Given the description of an element on the screen output the (x, y) to click on. 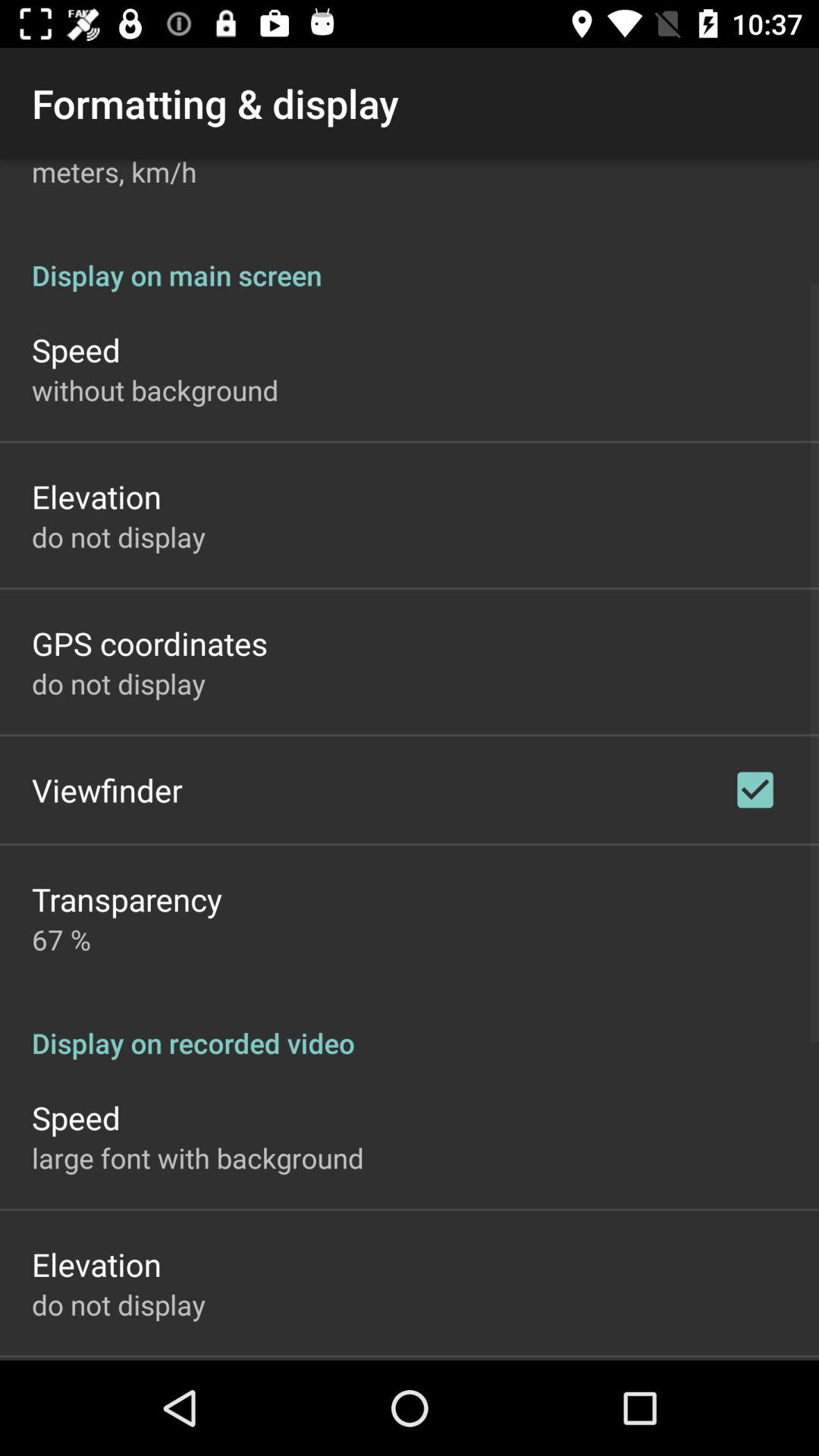
choose app below the transparency icon (61, 939)
